Given the description of an element on the screen output the (x, y) to click on. 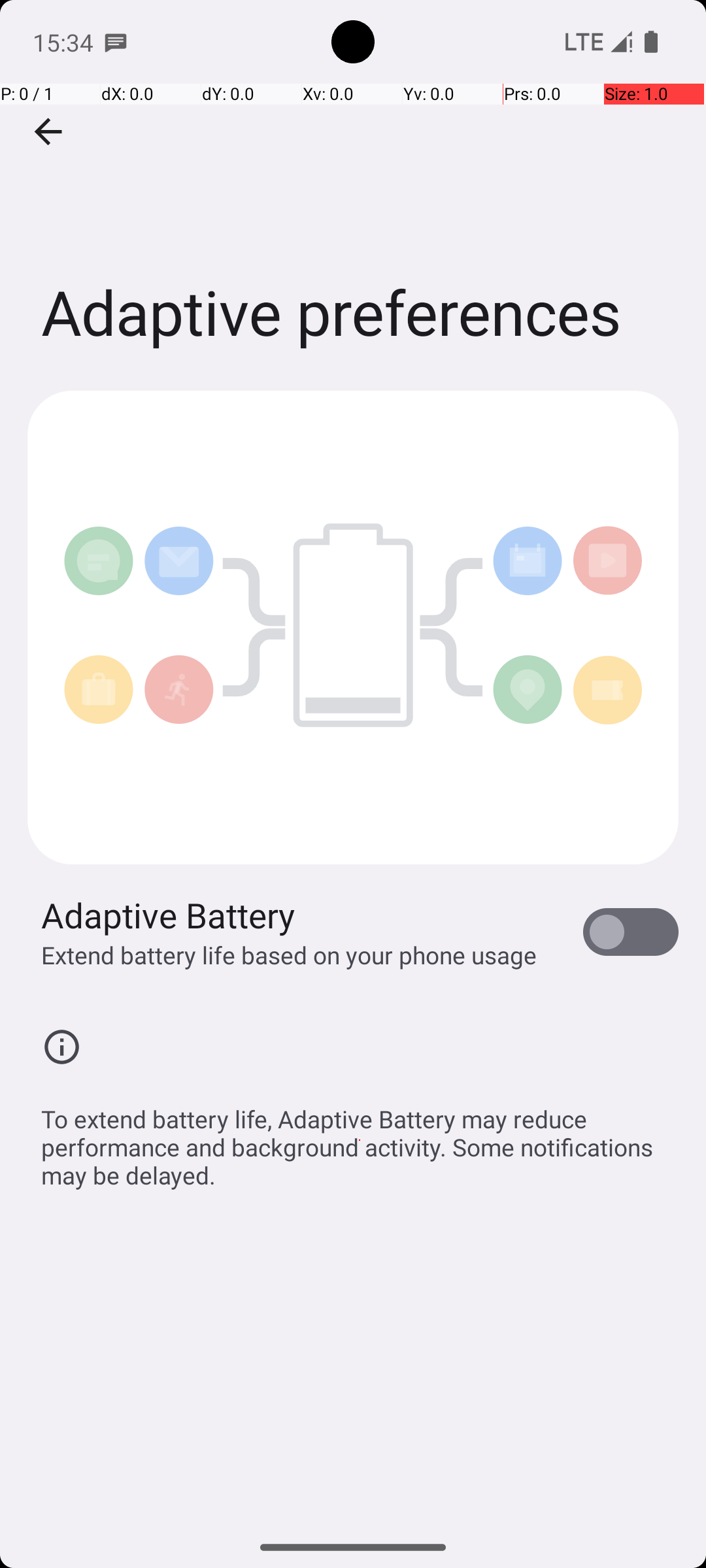
Adaptive Battery Element type: android.widget.TextView (168, 914)
Extend battery life based on your phone usage Element type: android.widget.TextView (288, 954)
To extend battery life, Adaptive Battery may reduce performance and background activity. Some notifications may be delayed. Element type: android.widget.TextView (359, 1139)
